Given the description of an element on the screen output the (x, y) to click on. 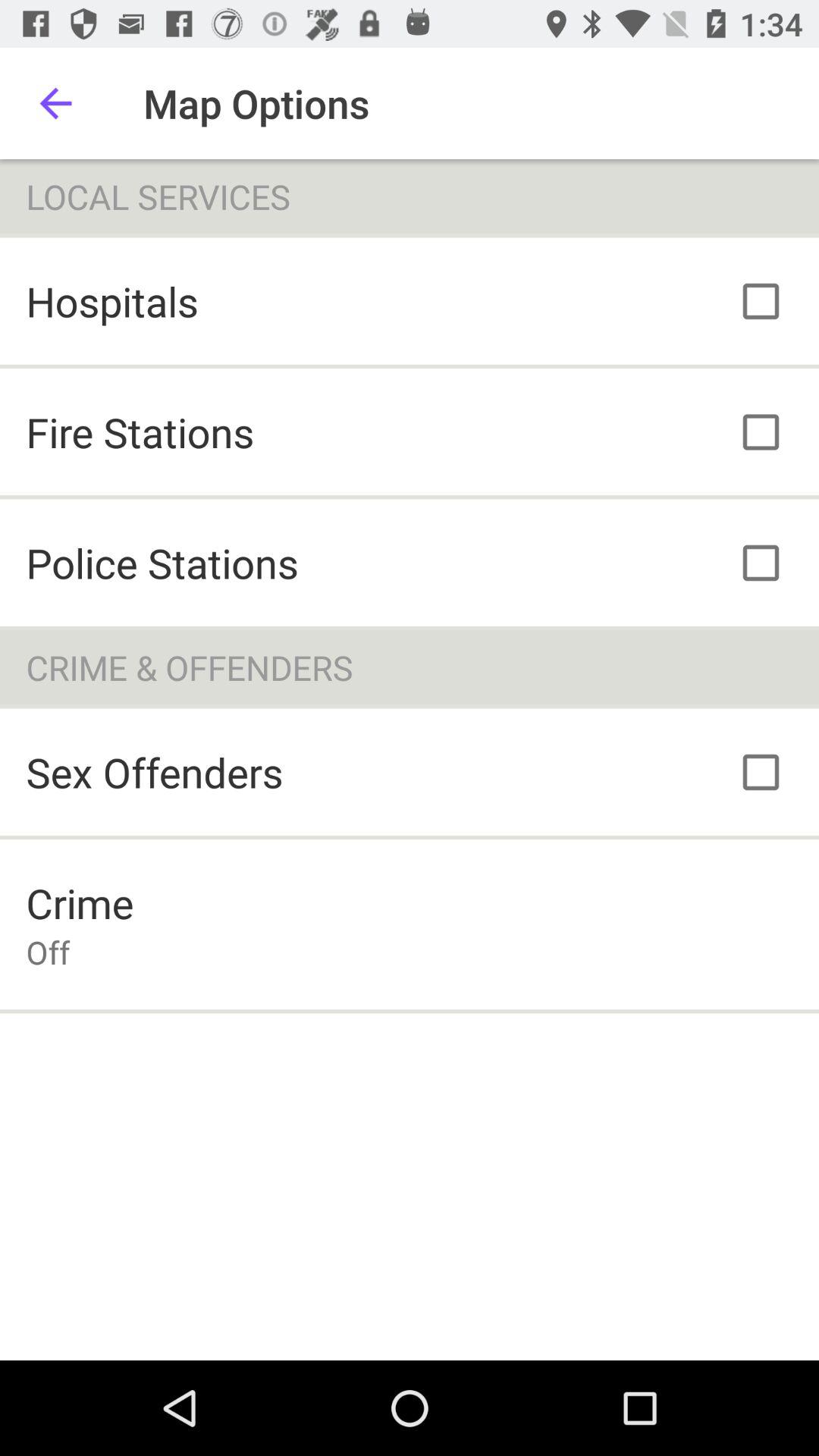
choose the local services item (409, 196)
